Given the description of an element on the screen output the (x, y) to click on. 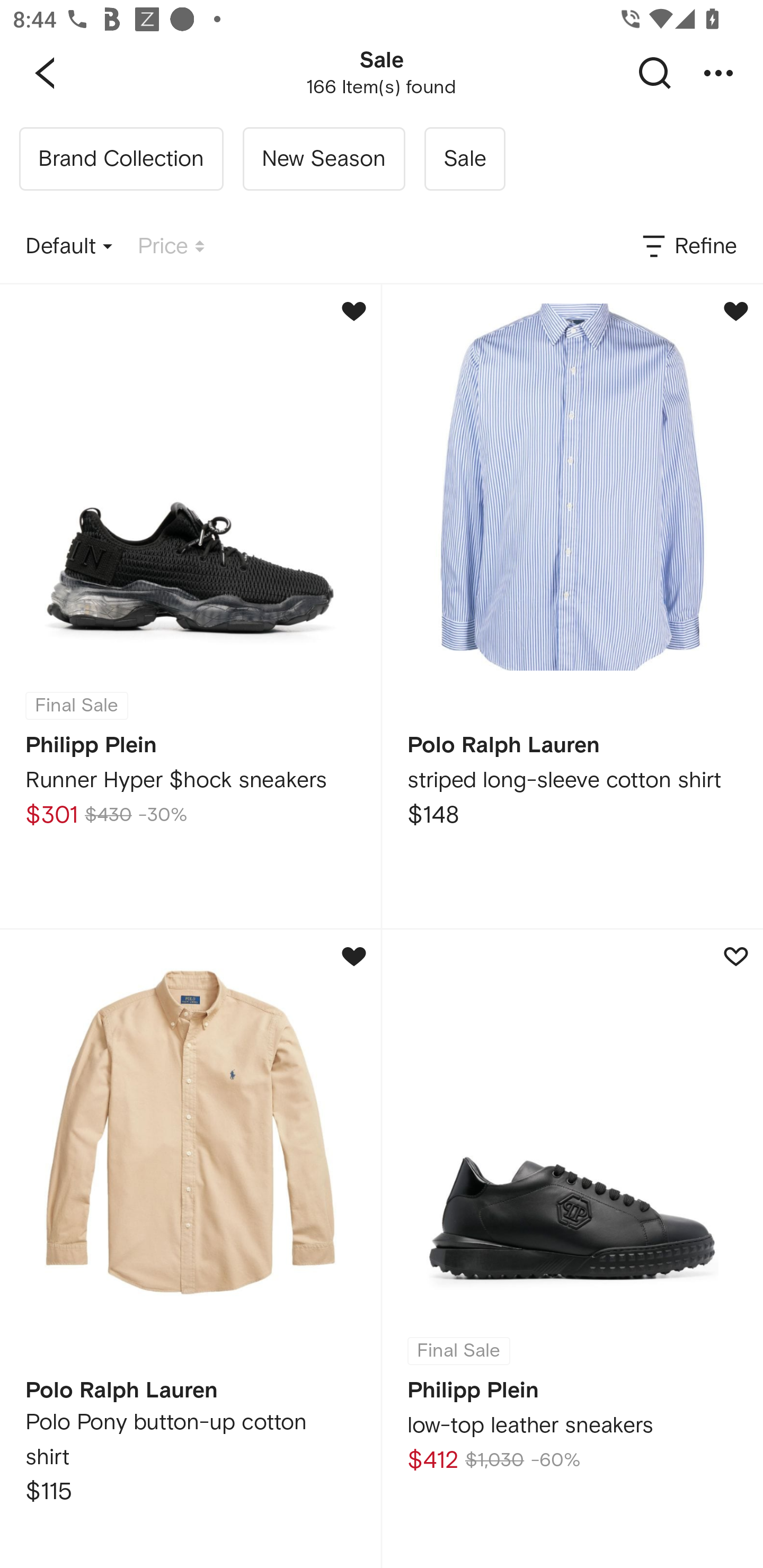
Brand Collection (121, 158)
New Season (323, 158)
Sale (464, 158)
Default (68, 246)
Price (171, 246)
Refine (688, 246)
